Given the description of an element on the screen output the (x, y) to click on. 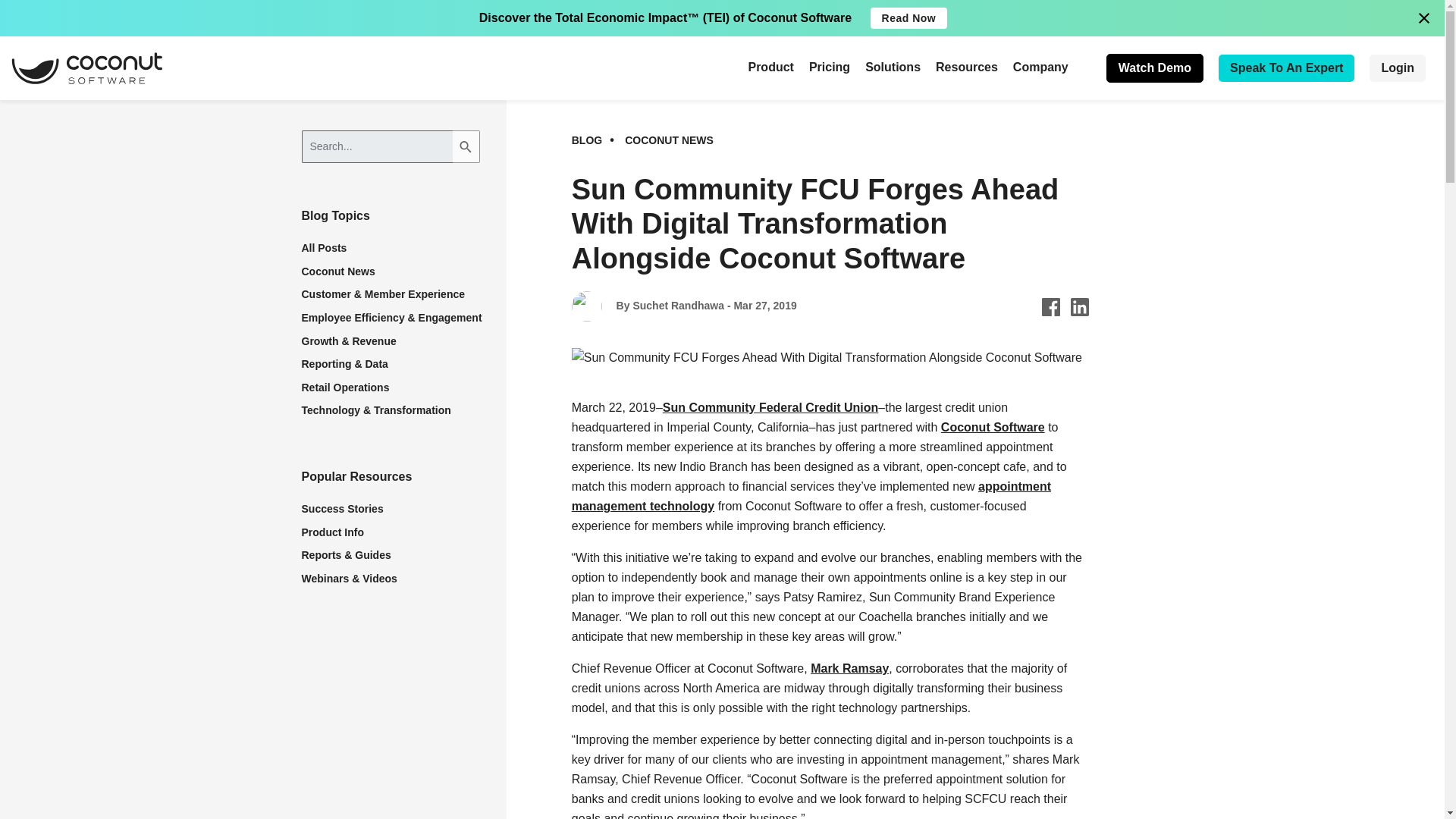
Success Stories (342, 508)
Read Now (908, 17)
Resources (966, 66)
Company (1040, 66)
Pricing (829, 66)
Close alert (1423, 18)
Login (1397, 67)
Product Info (332, 532)
Watch Demo (1155, 68)
